Given the description of an element on the screen output the (x, y) to click on. 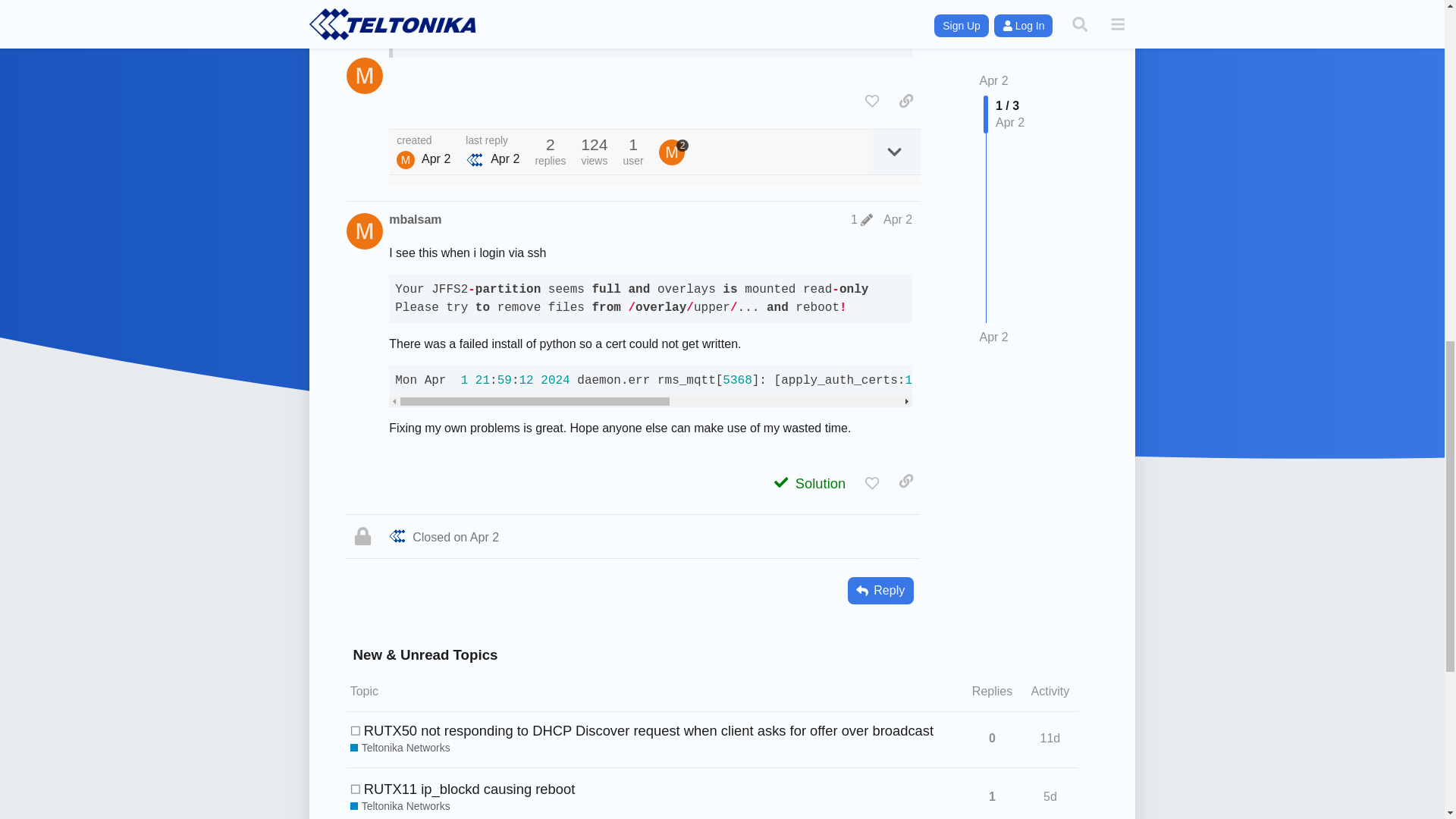
Apr 2 (897, 219)
last reply (492, 140)
1 (861, 219)
2 (673, 152)
expand topic details (893, 151)
copy a link to this post to clipboard (905, 100)
mbalsam (405, 159)
like this post (871, 100)
Apr 2, 2024 5:25 am (435, 159)
mbalsam (414, 219)
